Given the description of an element on the screen output the (x, y) to click on. 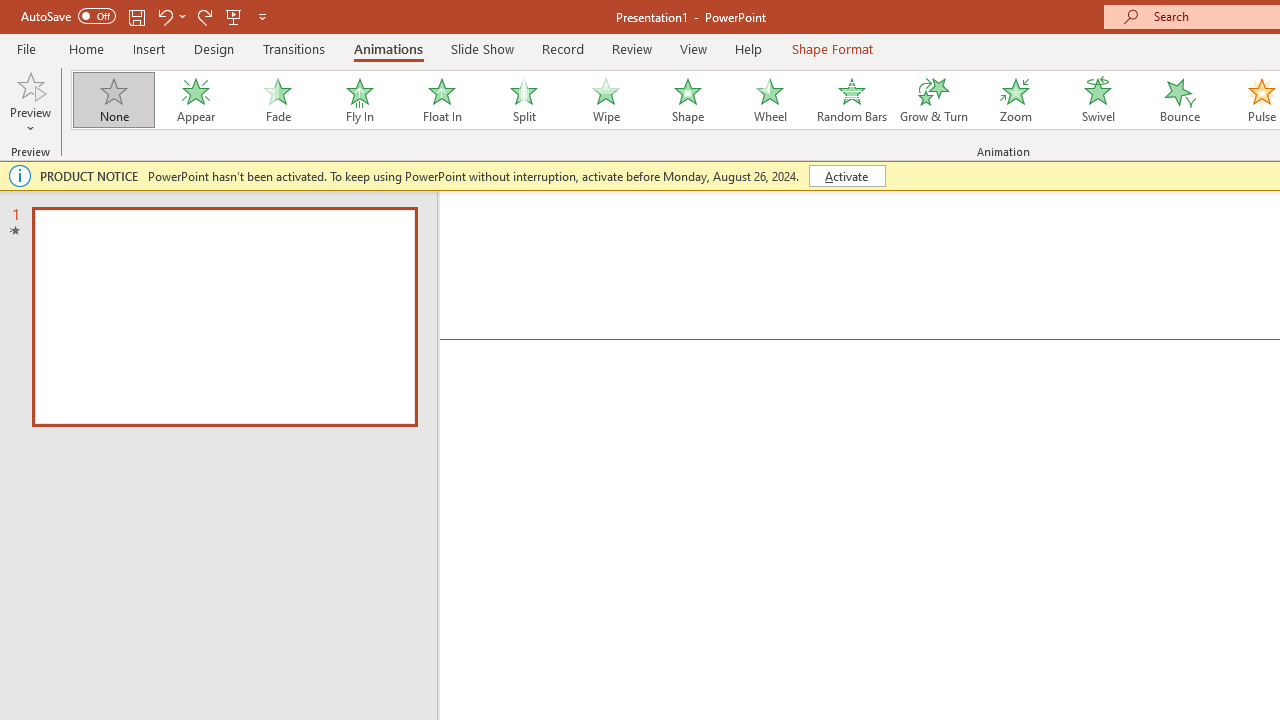
Appear (195, 100)
Shape (687, 100)
Wheel (770, 100)
None (113, 100)
Grow & Turn (934, 100)
